Given the description of an element on the screen output the (x, y) to click on. 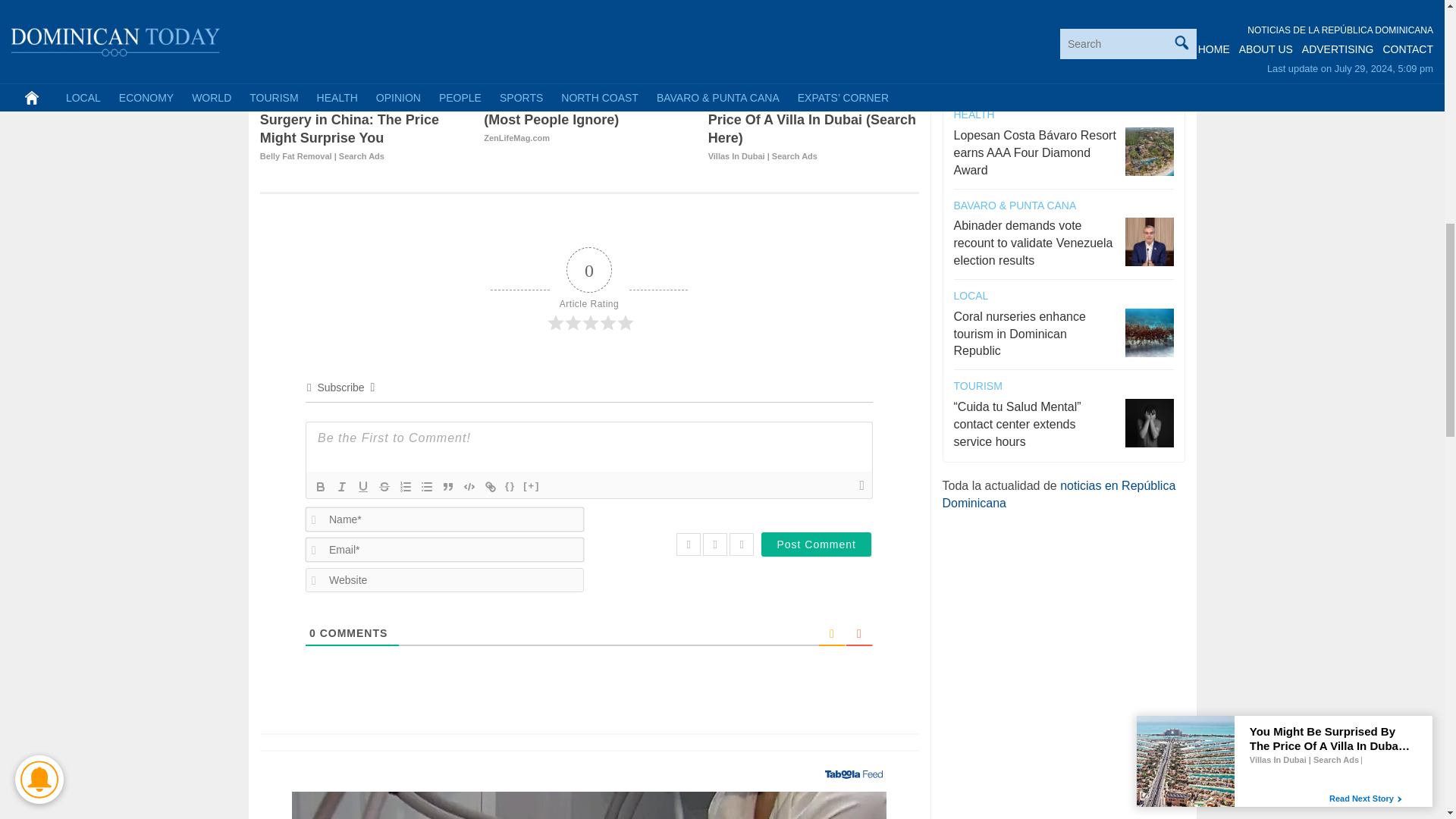
Italic (341, 486)
Underline (363, 486)
Code Block (469, 486)
Post Comment (815, 544)
Unordered List (427, 486)
Blockquote (448, 486)
Ordered List (405, 486)
Strike (384, 486)
Bold (320, 486)
